Given the description of an element on the screen output the (x, y) to click on. 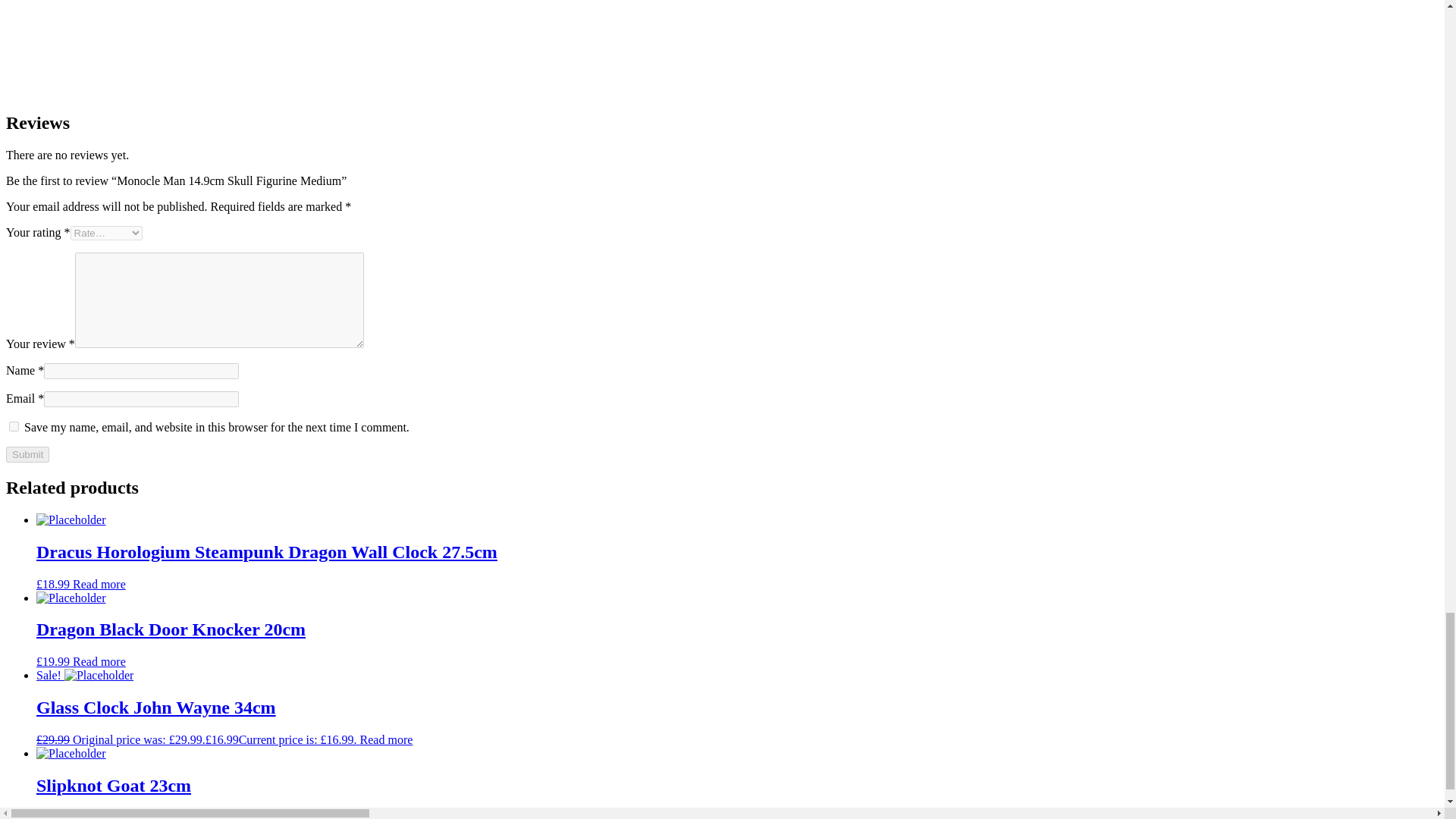
yes (13, 426)
Read more (386, 739)
Read more (98, 584)
Read more (98, 661)
Submit (27, 454)
Submit (27, 454)
